Given the description of an element on the screen output the (x, y) to click on. 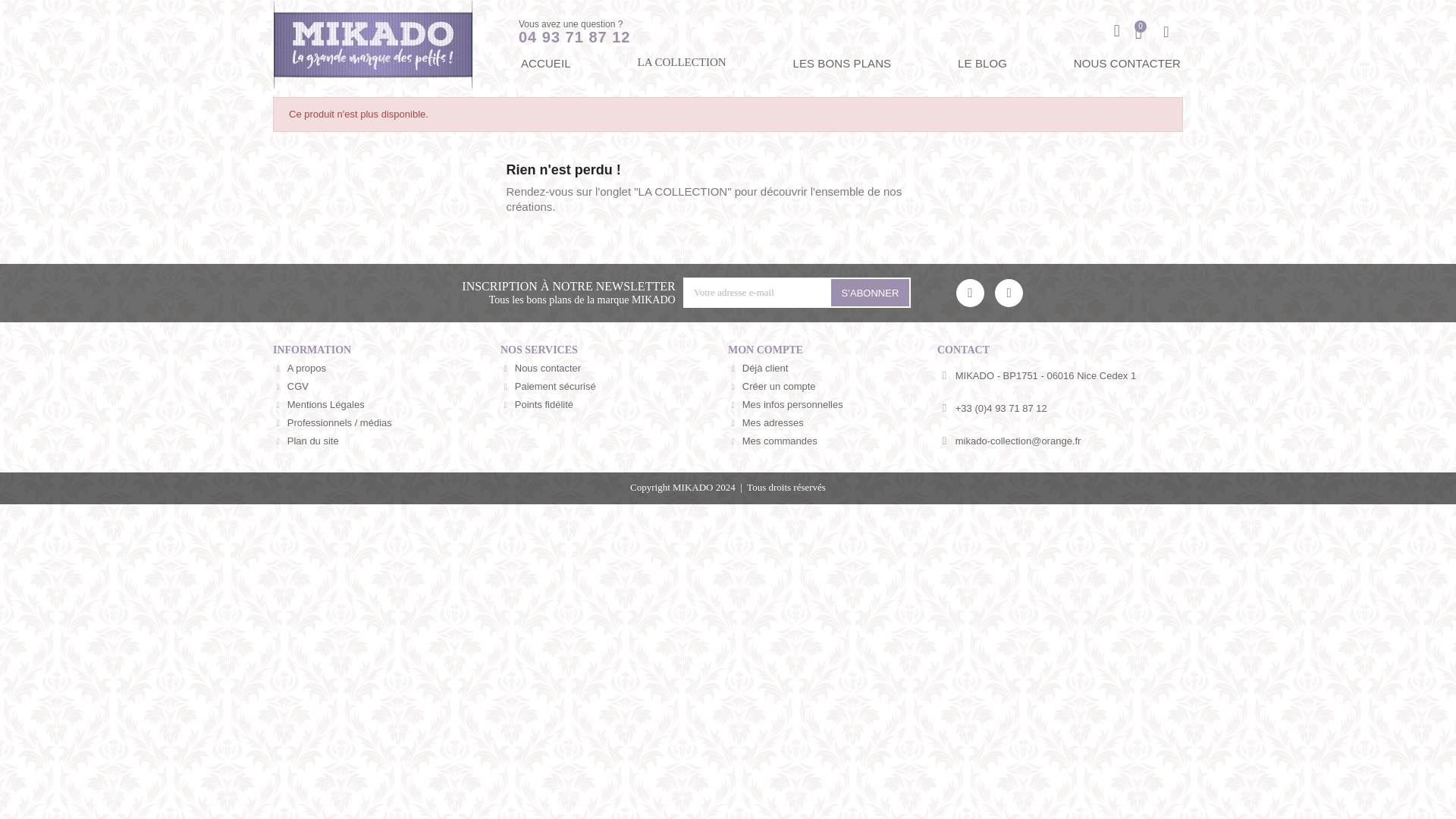
ACCUEIL (545, 63)
Plan du site (386, 441)
LA COLLECTION (681, 62)
NOUS CONTACTER (1126, 63)
CGV (386, 386)
LES BONS PLANS (841, 63)
Mes infos personnelles (832, 404)
04 93 71 87 12 (574, 36)
Nous contacter (614, 368)
LE BLOG (982, 63)
